Given the description of an element on the screen output the (x, y) to click on. 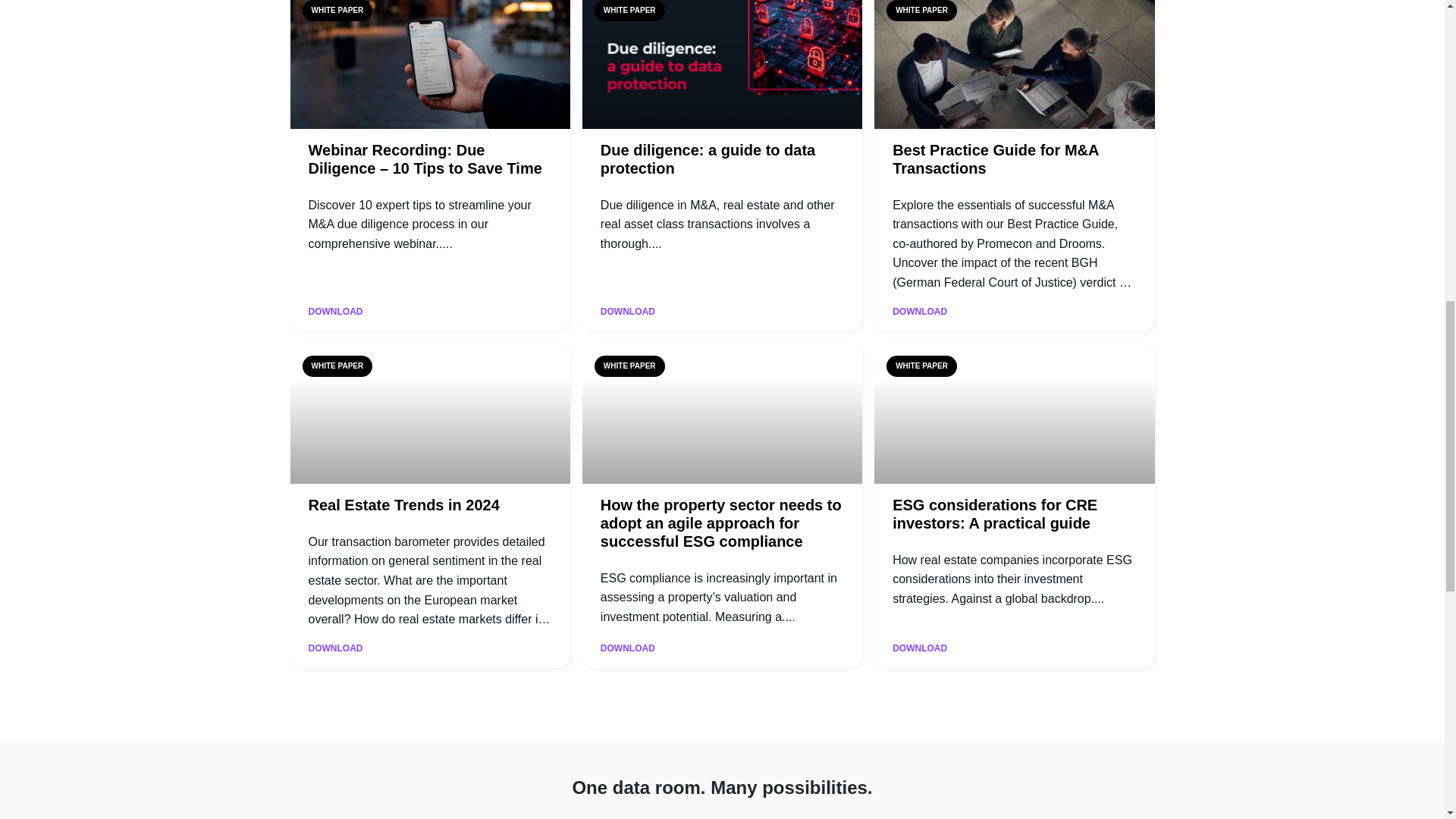
DOWNLOAD (627, 311)
Due diligence: a guide to data protection (707, 158)
Real Estate Trends in 2024 (403, 504)
DOWNLOAD (334, 648)
DOWNLOAD (334, 311)
DOWNLOAD (919, 311)
